Given the description of an element on the screen output the (x, y) to click on. 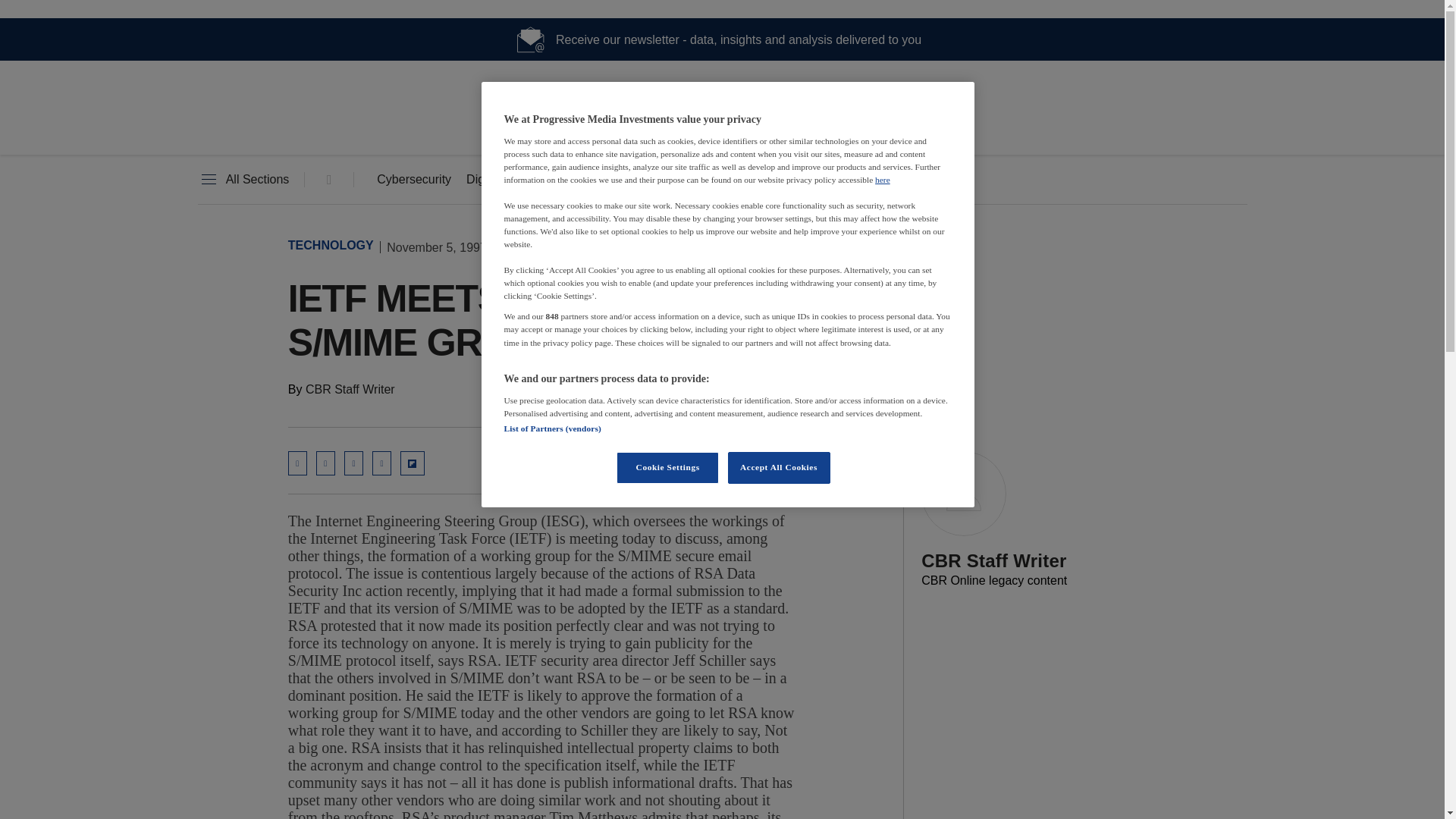
Events (783, 179)
Hardware (612, 179)
Leadership (701, 179)
Digital economy (509, 179)
Share on Flipboard (412, 463)
Tech Monitor (722, 128)
All Sections (242, 179)
Cybersecurity (414, 179)
